Given the description of an element on the screen output the (x, y) to click on. 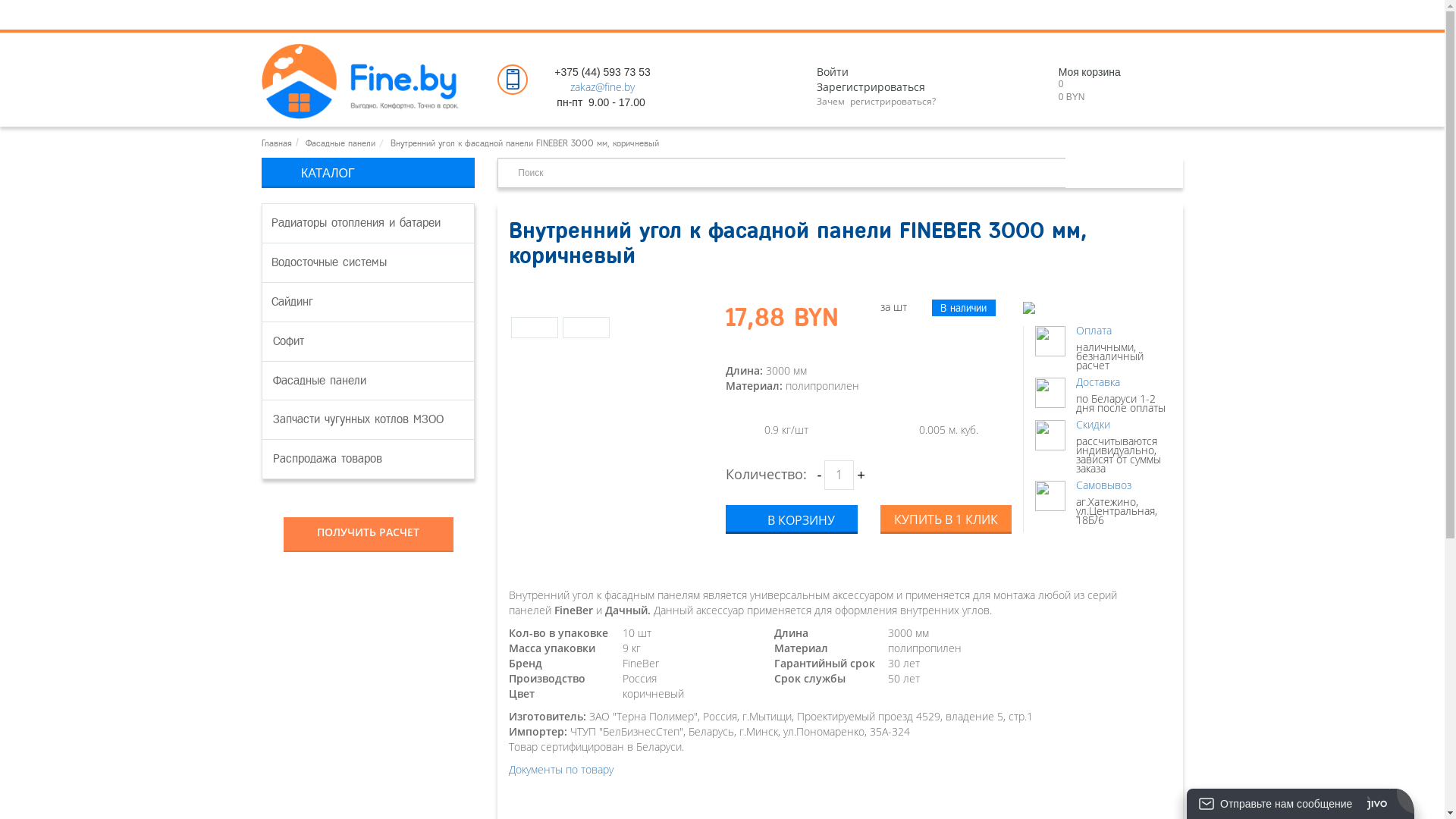
- Element type: text (818, 474)
zakaz@fine.by Element type: text (602, 86)
+ Element type: text (860, 474)
+375 (44) 593 73 53 Element type: text (602, 71)
